Given the description of an element on the screen output the (x, y) to click on. 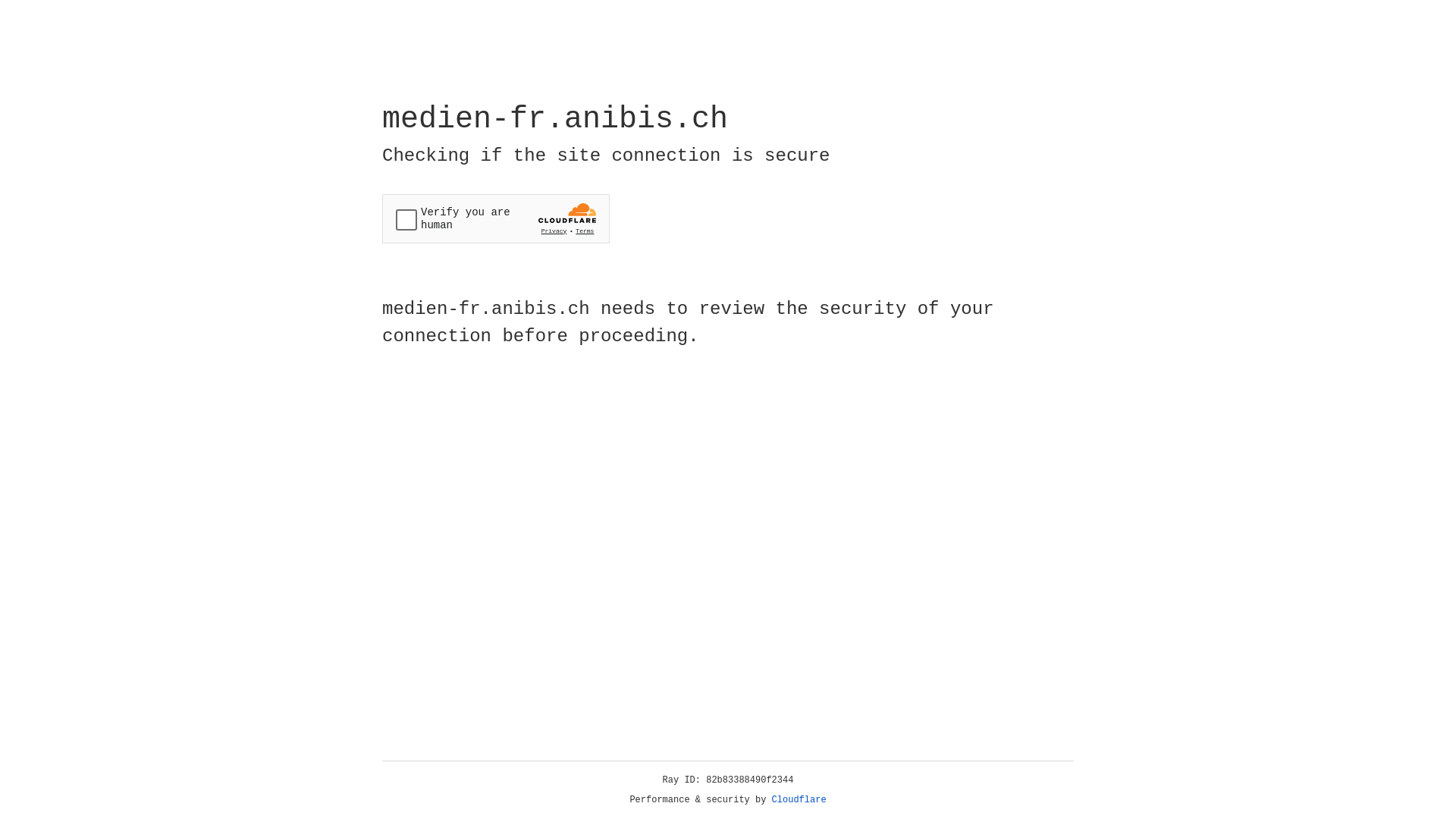
Widget containing a Cloudflare security challenge Element type: hover (495, 218)
Cloudflare Element type: text (798, 799)
